Given the description of an element on the screen output the (x, y) to click on. 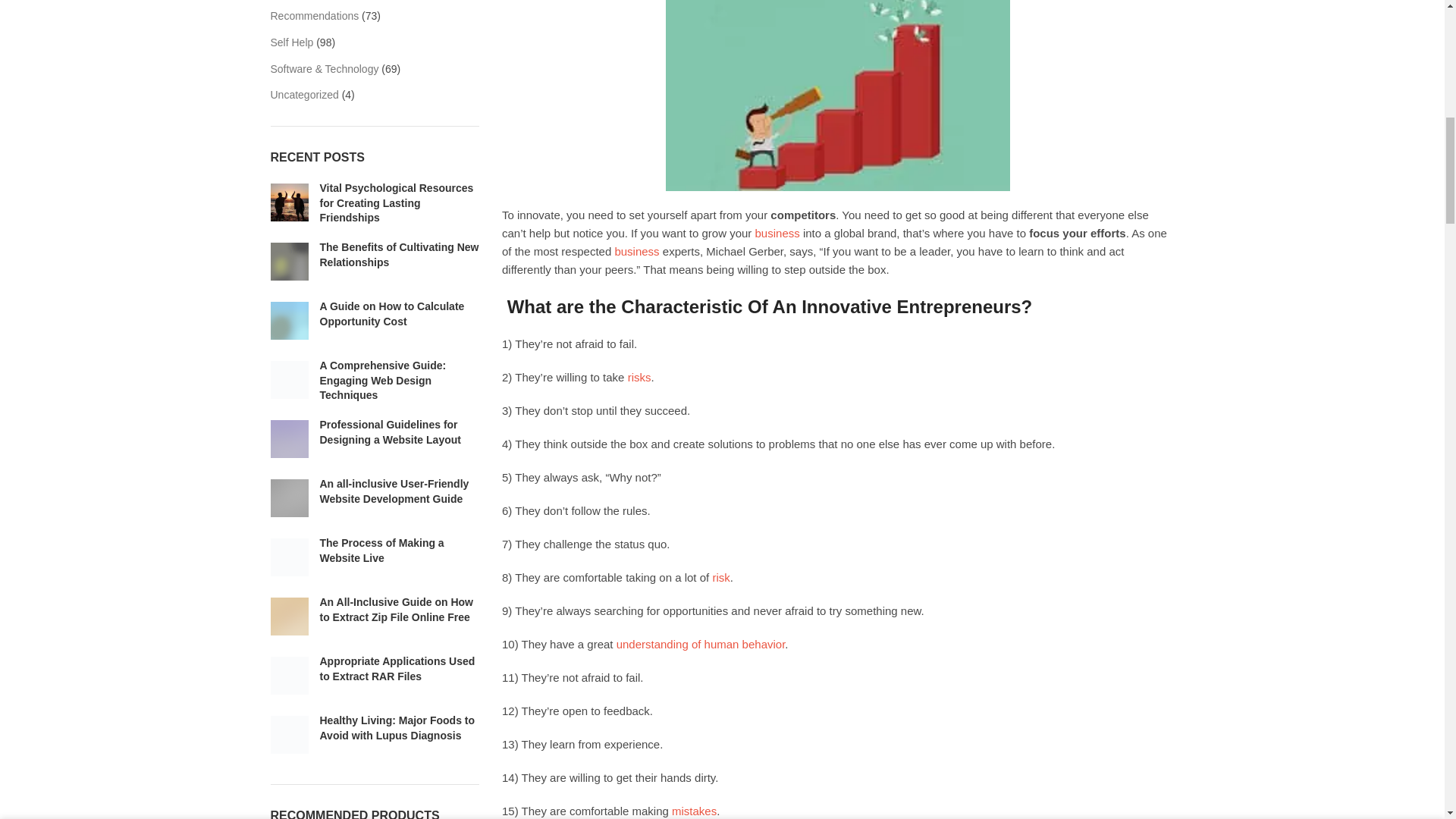
risk (720, 576)
understanding of human behavior (700, 644)
mistakes (693, 810)
business (636, 250)
risks (638, 377)
business (777, 232)
